Given the description of an element on the screen output the (x, y) to click on. 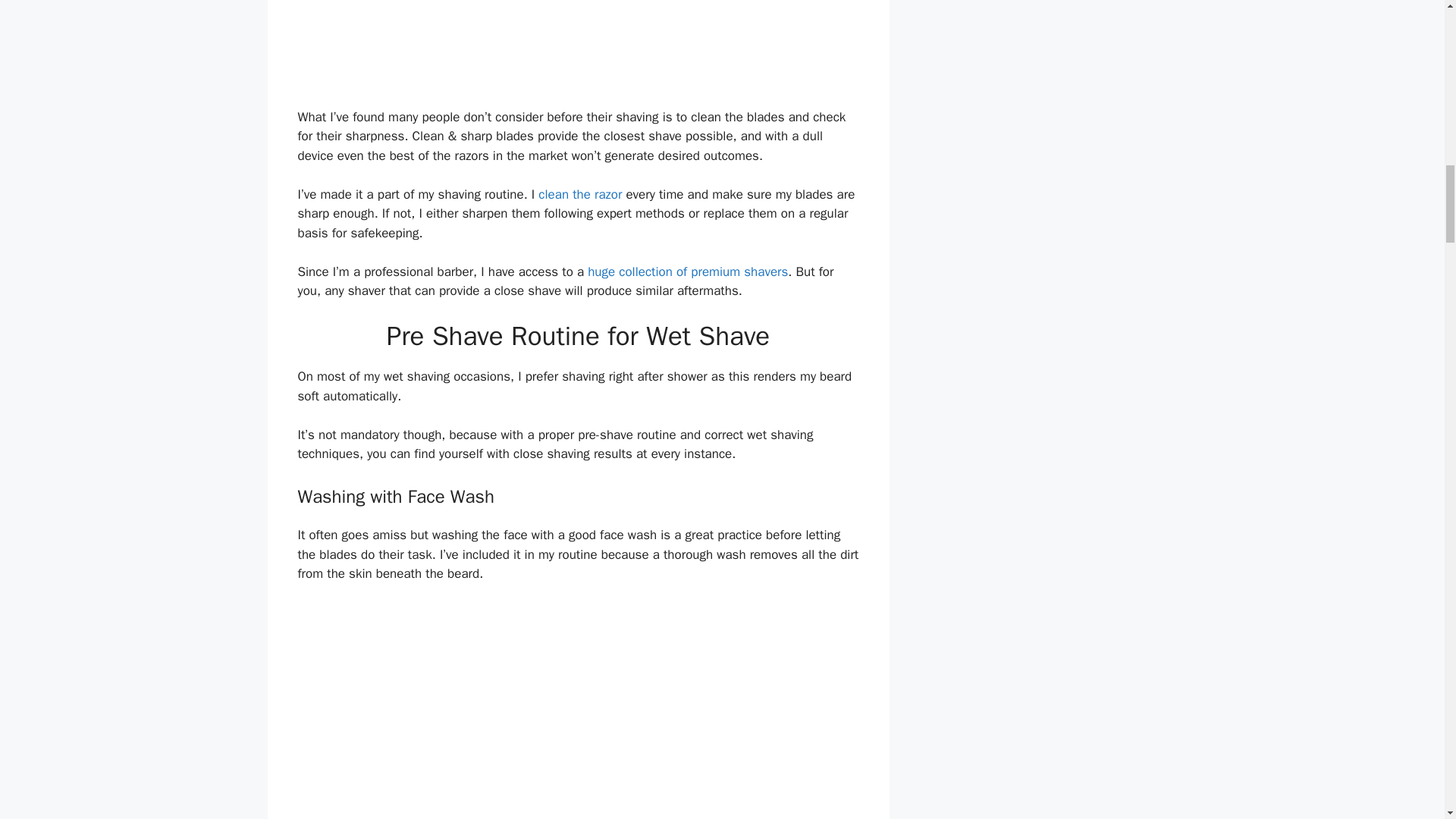
clean the razor (579, 194)
huge collection of premium shavers (687, 271)
